Given the description of an element on the screen output the (x, y) to click on. 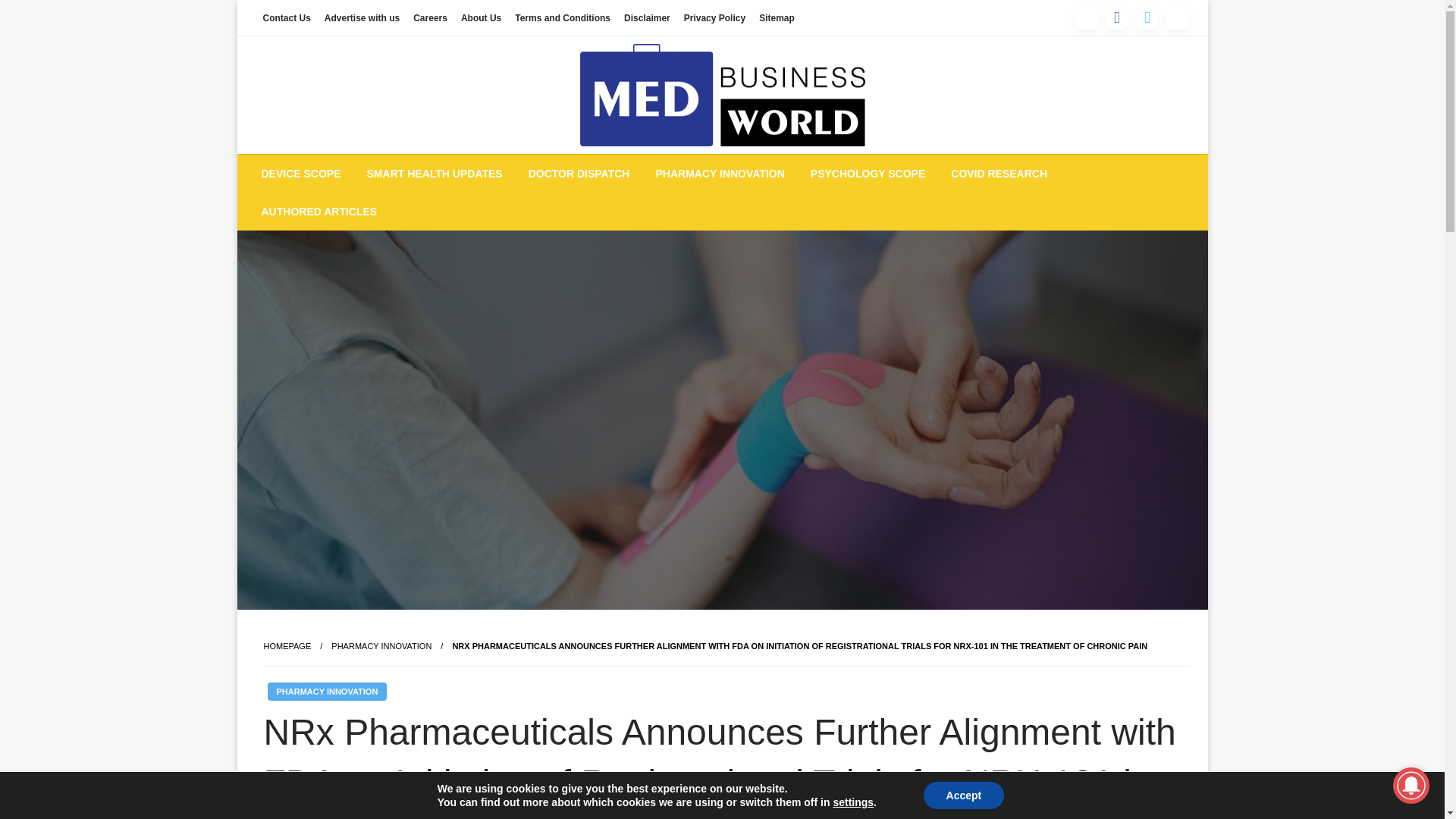
DOCTOR DISPATCH (579, 173)
Careers (430, 17)
Contact Us (286, 17)
AUTHORED ARTICLES (319, 211)
Privacy Policy (714, 17)
PSYCHOLOGY SCOPE (867, 173)
Disclaimer (647, 17)
Homepage (287, 645)
Sitemap (777, 17)
PHARMACY INNOVATION (326, 691)
Advertise with us (361, 17)
DEVICE SCOPE (300, 173)
About Us (481, 17)
COVID RESEARCH (998, 173)
